Given the description of an element on the screen output the (x, y) to click on. 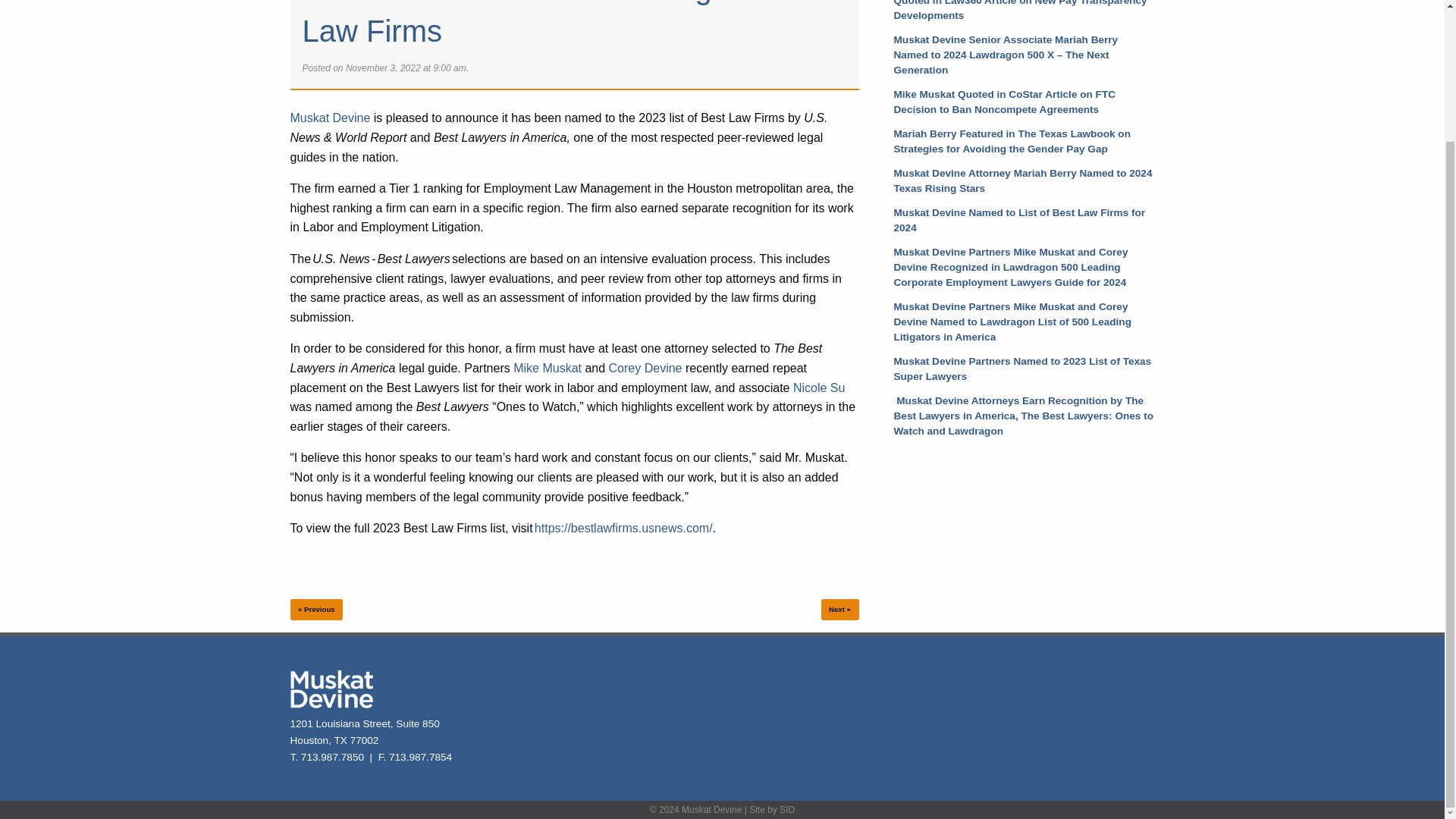
Mike Muskat (546, 367)
Nicole Su (818, 387)
Corey Devine (645, 367)
Muskat Devine (329, 117)
